Given the description of an element on the screen output the (x, y) to click on. 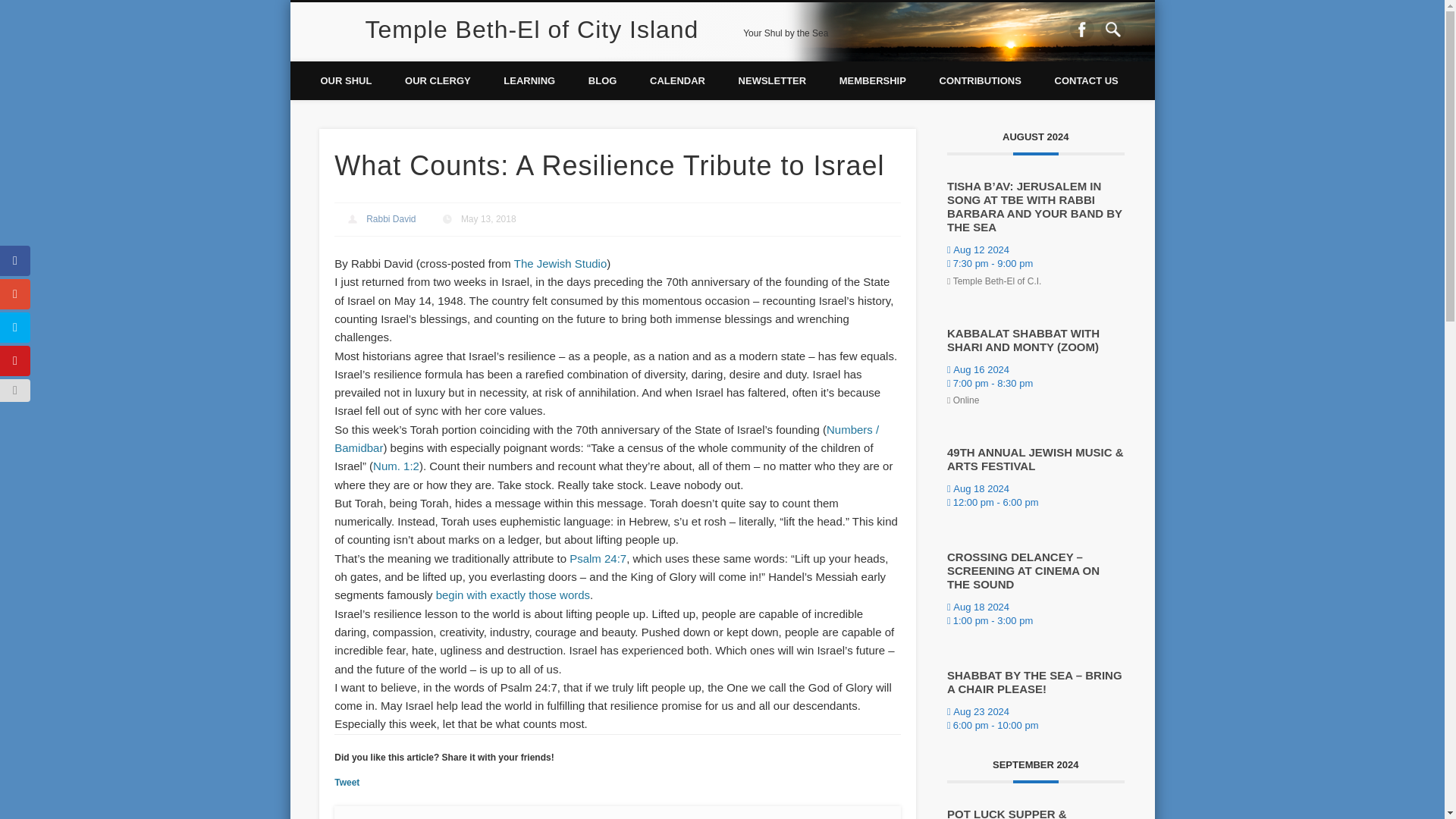
LEARNING (528, 79)
MEMBERSHIP (872, 79)
BLOG (602, 79)
CALENDAR (677, 79)
Temple Beth-El of City Island (531, 29)
Rabbi David (390, 218)
The Jewish Studio (560, 263)
CONTACT US (1085, 79)
CONTRIBUTIONS (980, 79)
OUR CLERGY (438, 79)
